Given the description of an element on the screen output the (x, y) to click on. 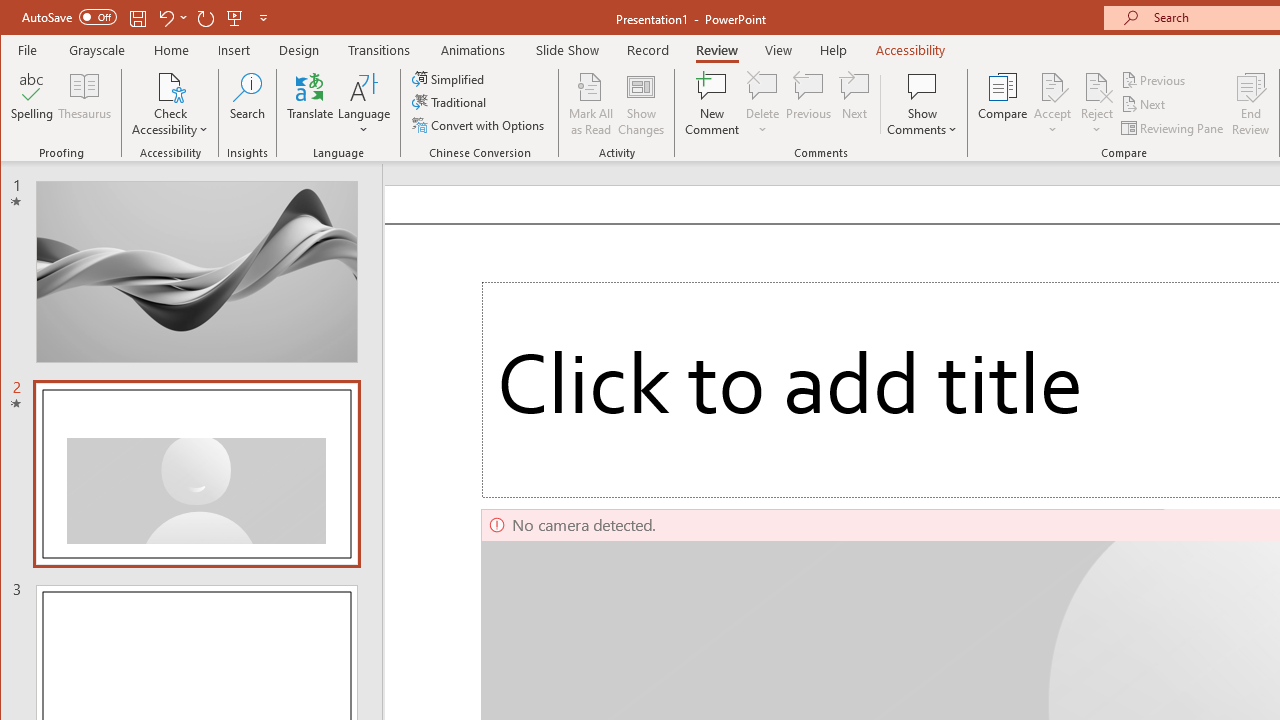
Simplified (450, 78)
Show Changes (640, 104)
Previous (1154, 80)
Thesaurus... (84, 104)
